Given the description of an element on the screen output the (x, y) to click on. 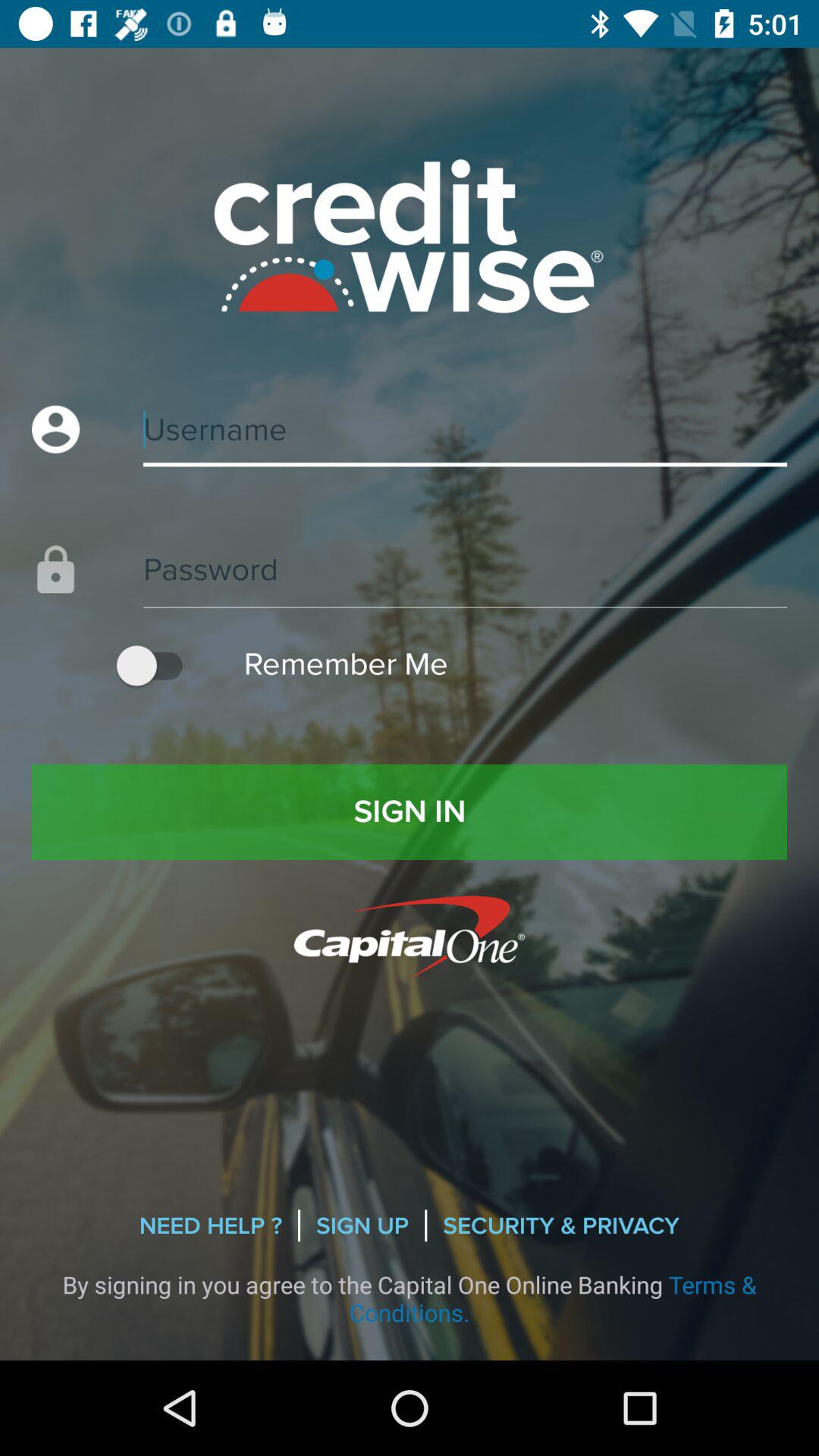
swipe to the need help ? item (210, 1225)
